Given the description of an element on the screen output the (x, y) to click on. 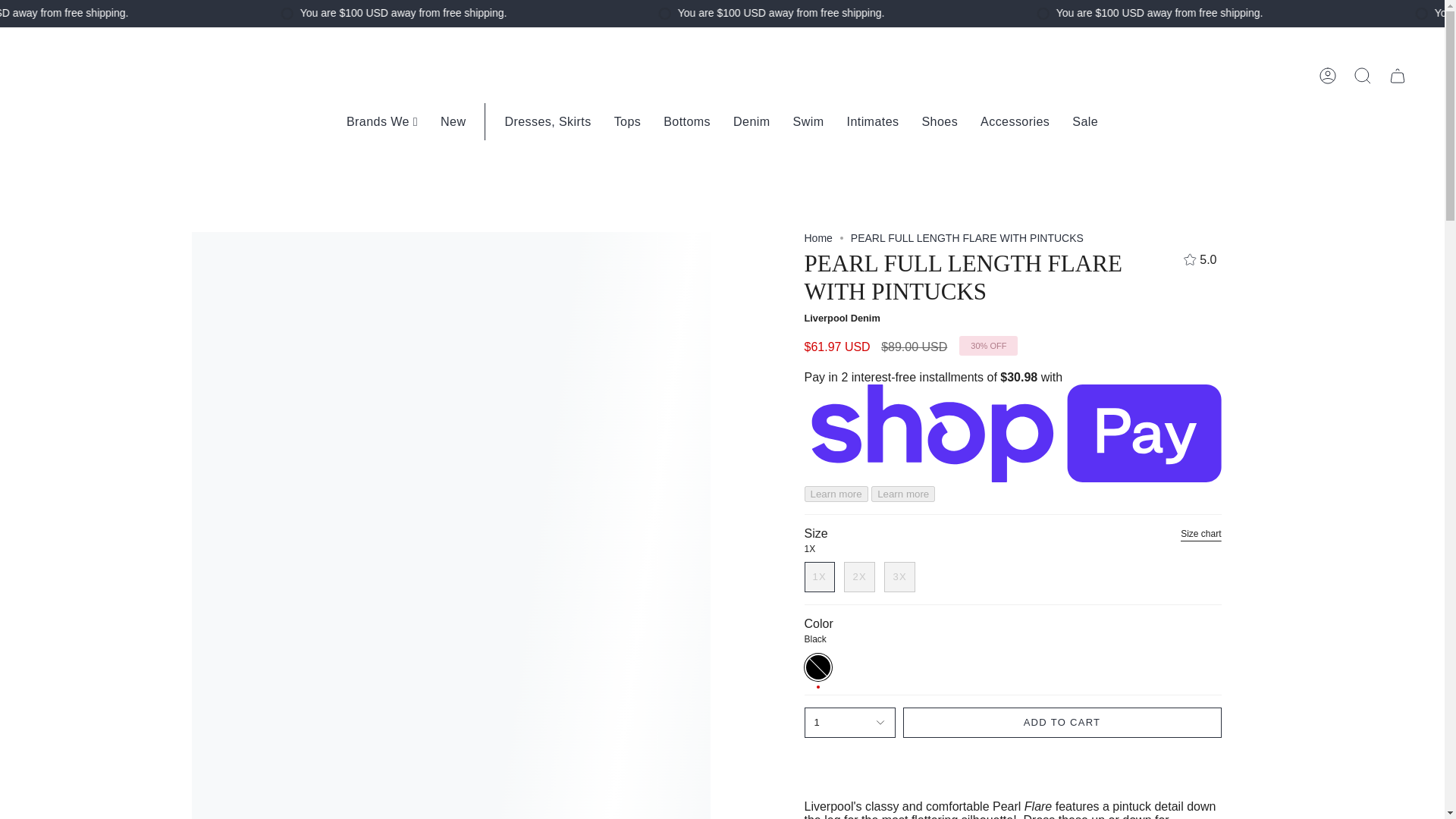
Search (1362, 75)
Cart (1397, 75)
Cart (1397, 75)
Account (1327, 75)
My Account (1327, 75)
